Given the description of an element on the screen output the (x, y) to click on. 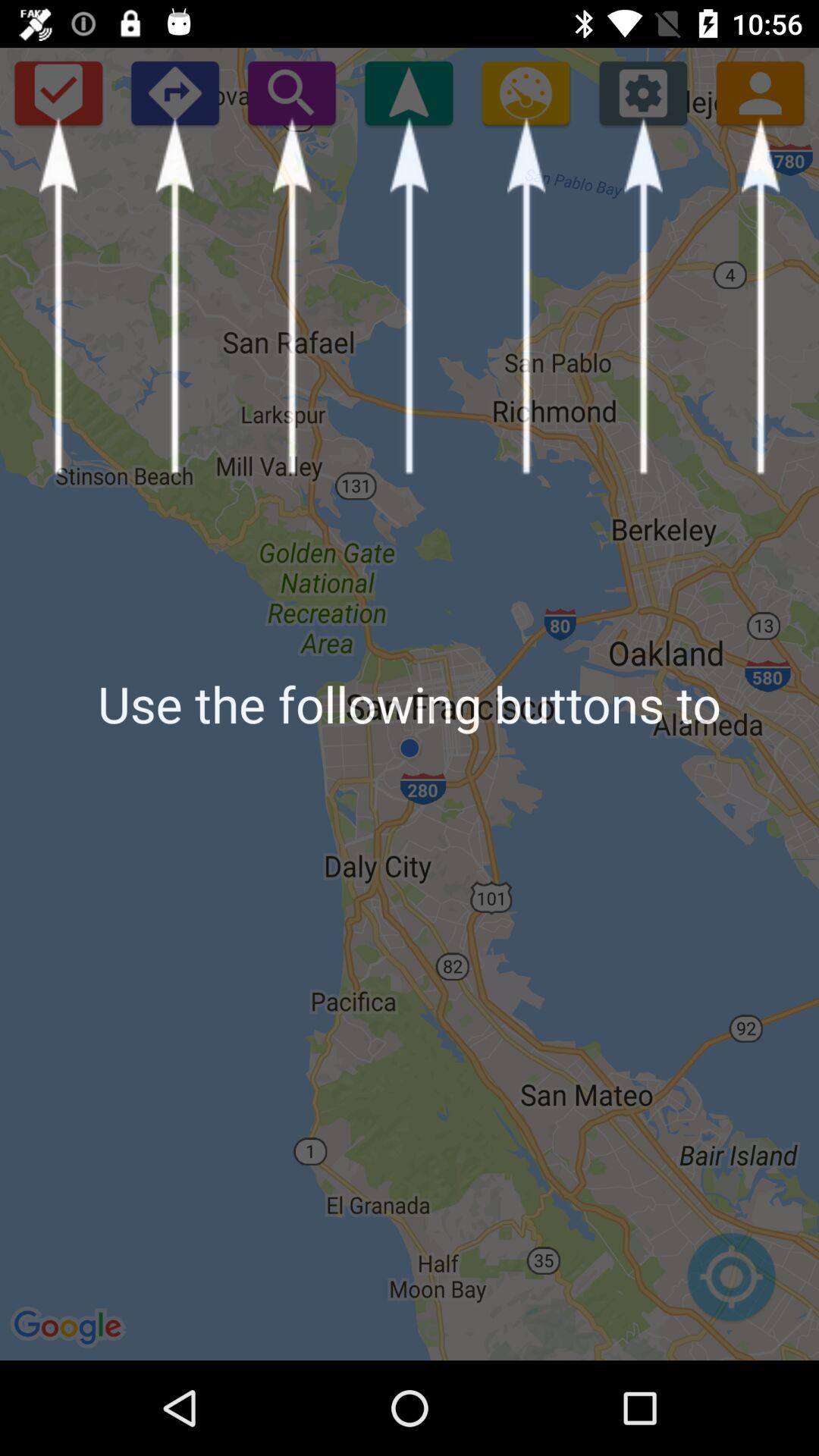
click the icon above use the following (642, 92)
